Given the description of an element on the screen output the (x, y) to click on. 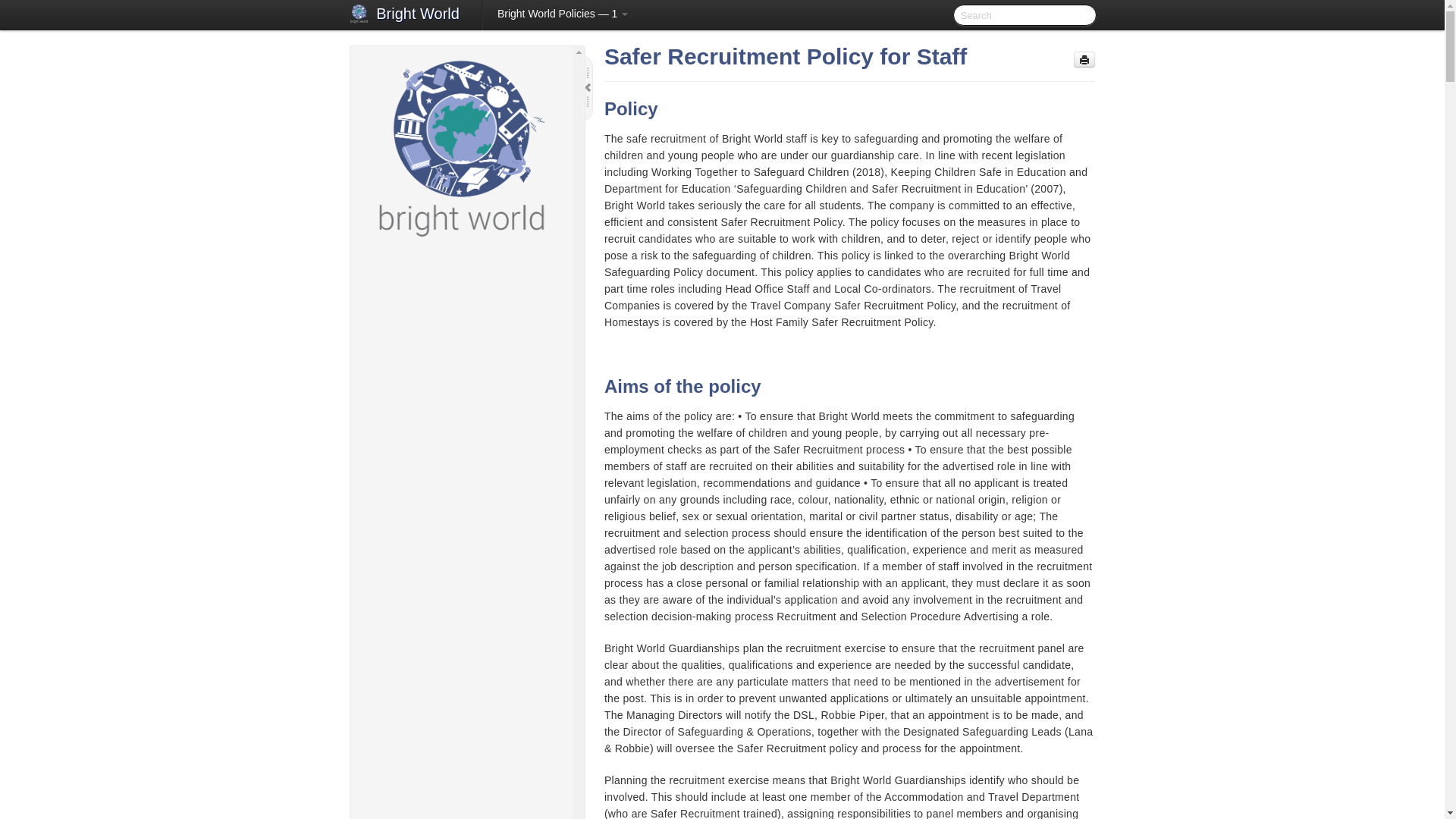
Low Level Concerns Policy (467, 463)
Anti-Bullying including Cyberbullying Policy (467, 324)
Safeguarding Policies (460, 267)
Bright World (417, 15)
Emergency Chaperone Service Policy (467, 374)
Safeguarding and Child Protection Policy and Procedure (467, 588)
Safer Recruitment Policy for Staff (467, 809)
Low Level Concerns List (475, 677)
